Given the description of an element on the screen output the (x, y) to click on. 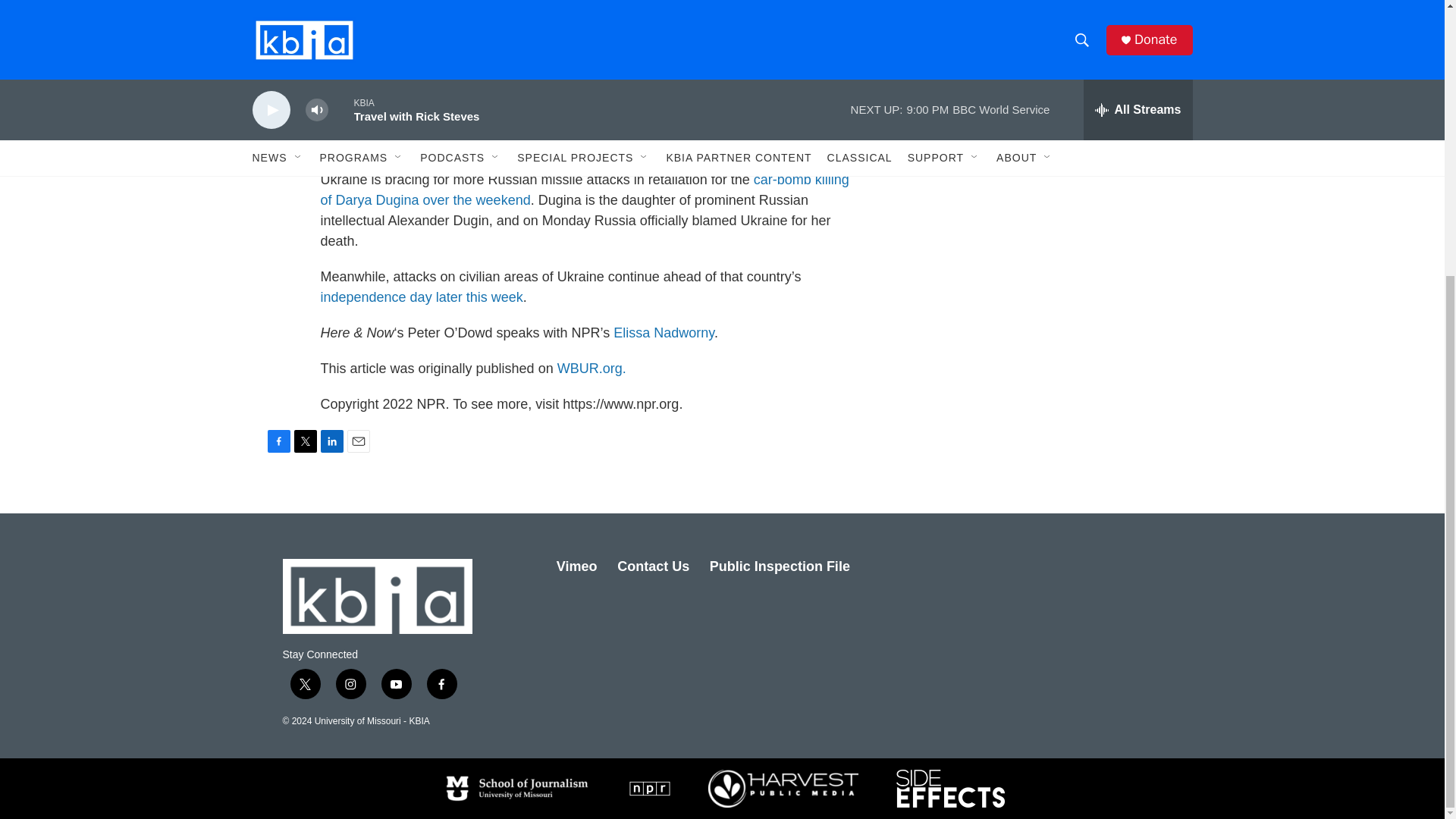
3rd party ad content (1062, 2)
3rd party ad content (1062, 348)
3rd party ad content (1062, 128)
